Given the description of an element on the screen output the (x, y) to click on. 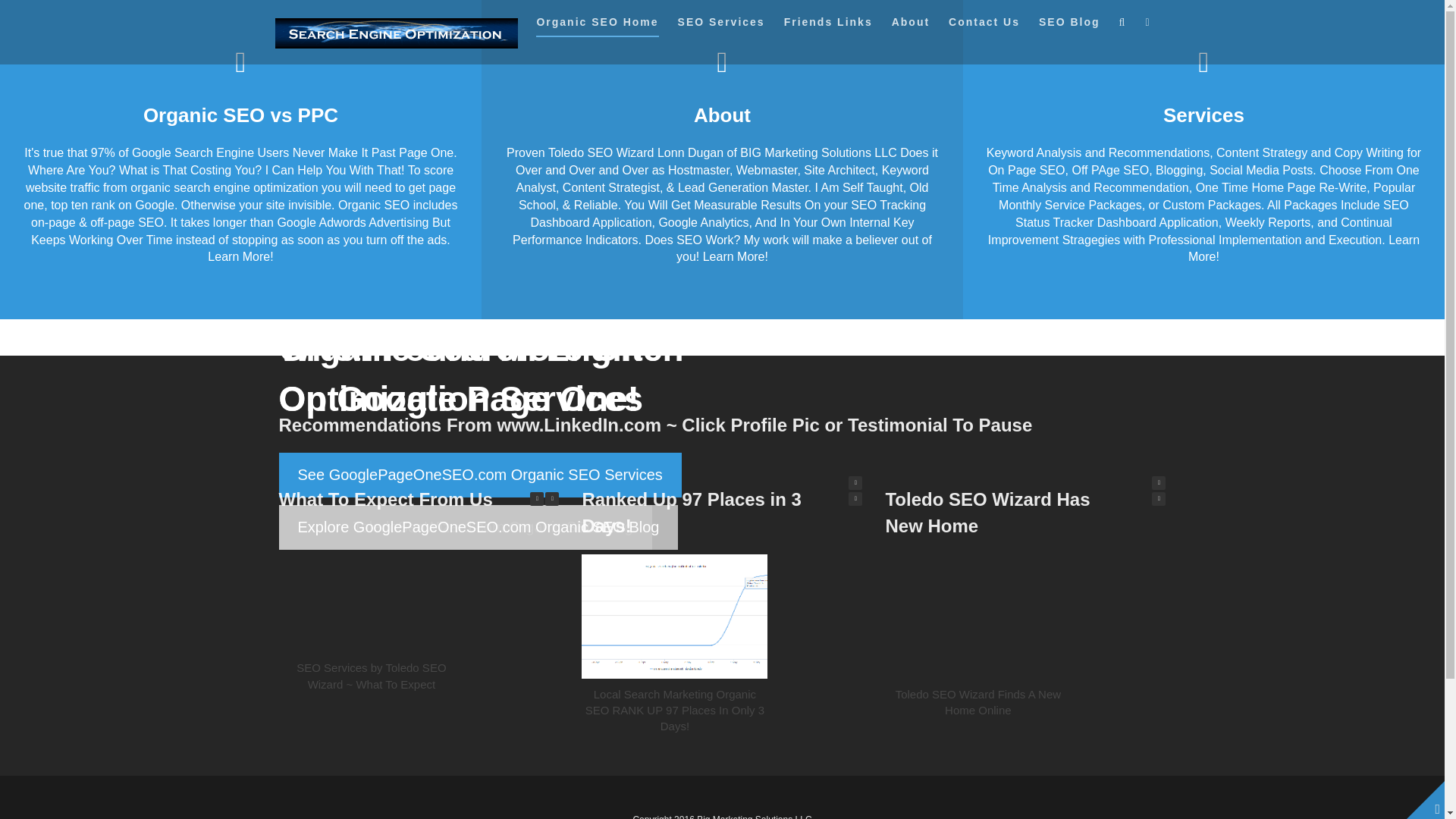
Next (551, 499)
About (910, 25)
Contact Us (984, 25)
Explore GooglePageOneSEO.com Organic SEO Blog (478, 527)
Toledo SEO Wizard Finds A New Home Online (978, 701)
GooglePageOneSEO (395, 33)
Previous (536, 499)
See GooglePageOne.com SEO Blog (421, 474)
See GooglePageOneSEO.com Organic SEO Services (480, 474)
Friends Links (828, 25)
Next (1158, 482)
Previous (1158, 499)
Explore ToledoSeoWizard.com Organic SEO Blog (465, 527)
Organic SEO Home (596, 25)
